Given the description of an element on the screen output the (x, y) to click on. 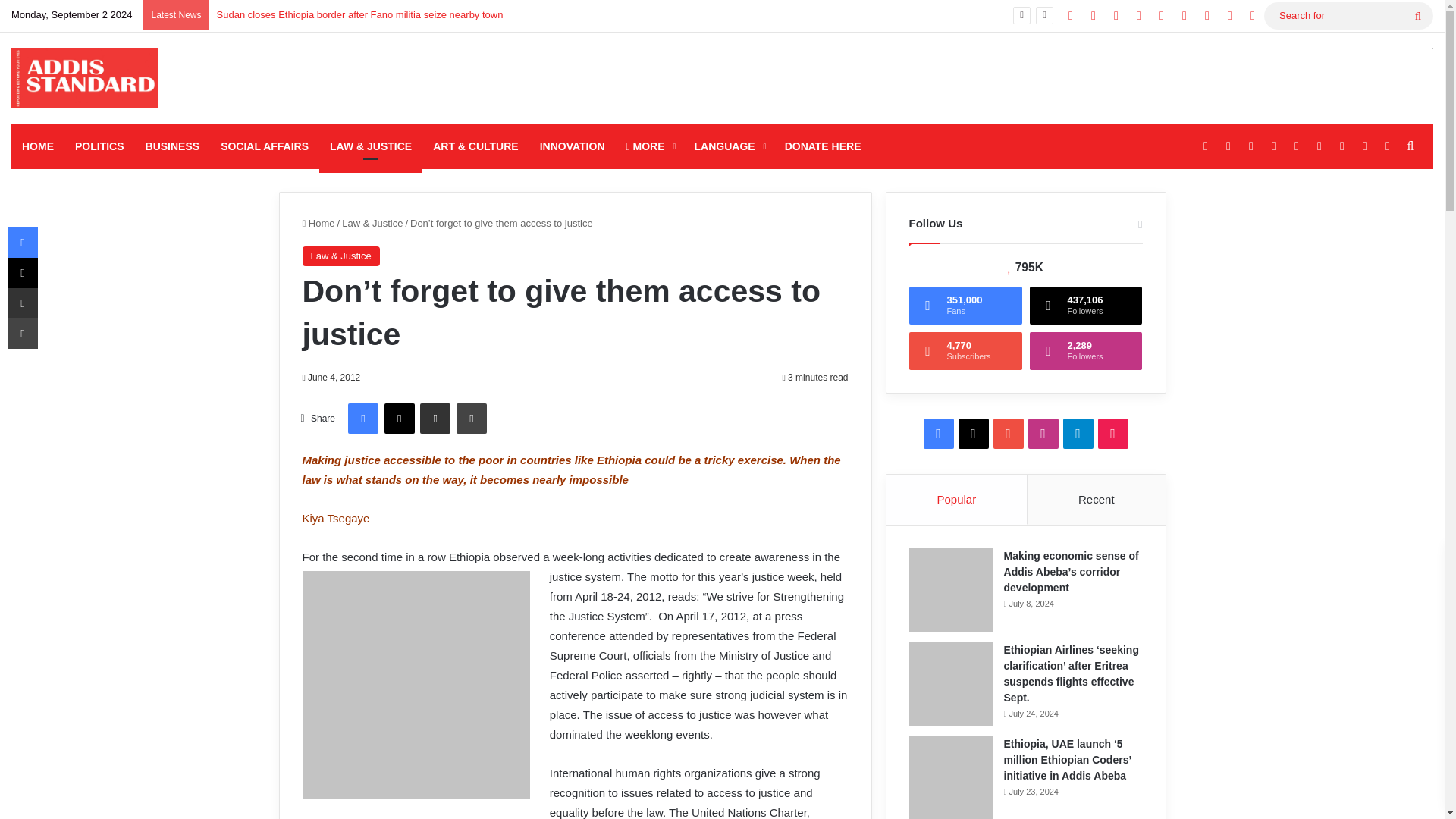
MORE (649, 145)
Facebook (362, 418)
Search for (1417, 15)
BUSINESS (173, 145)
Search for (1347, 15)
LANGUAGE (729, 145)
SOCIAL AFFAIRS (263, 145)
POLITICS (99, 145)
X (399, 418)
